Given the description of an element on the screen output the (x, y) to click on. 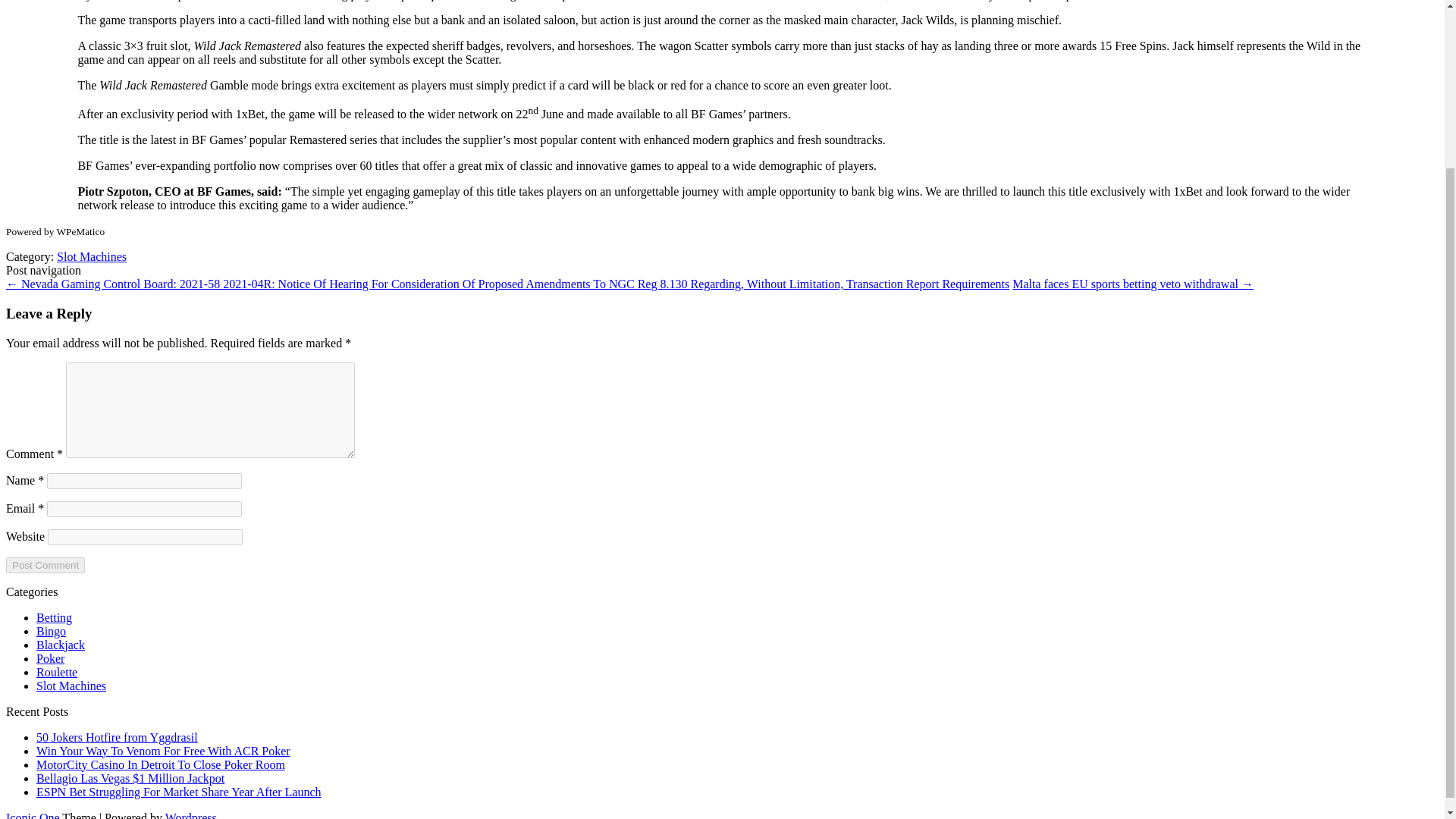
Bingo (50, 631)
Roulette (56, 671)
Betting (53, 617)
Post Comment (44, 565)
Poker (50, 658)
Slot Machines (71, 685)
Win Your Way To Venom For Free With ACR Poker (162, 750)
Slot Machines (91, 256)
Post Comment (44, 565)
MotorCity Casino In Detroit To Close Poker Room (160, 764)
ESPN Bet Struggling For Market Share Year After Launch (178, 791)
50 Jokers Hotfire from Yggdrasil (117, 737)
Blackjack (60, 644)
